Given the description of an element on the screen output the (x, y) to click on. 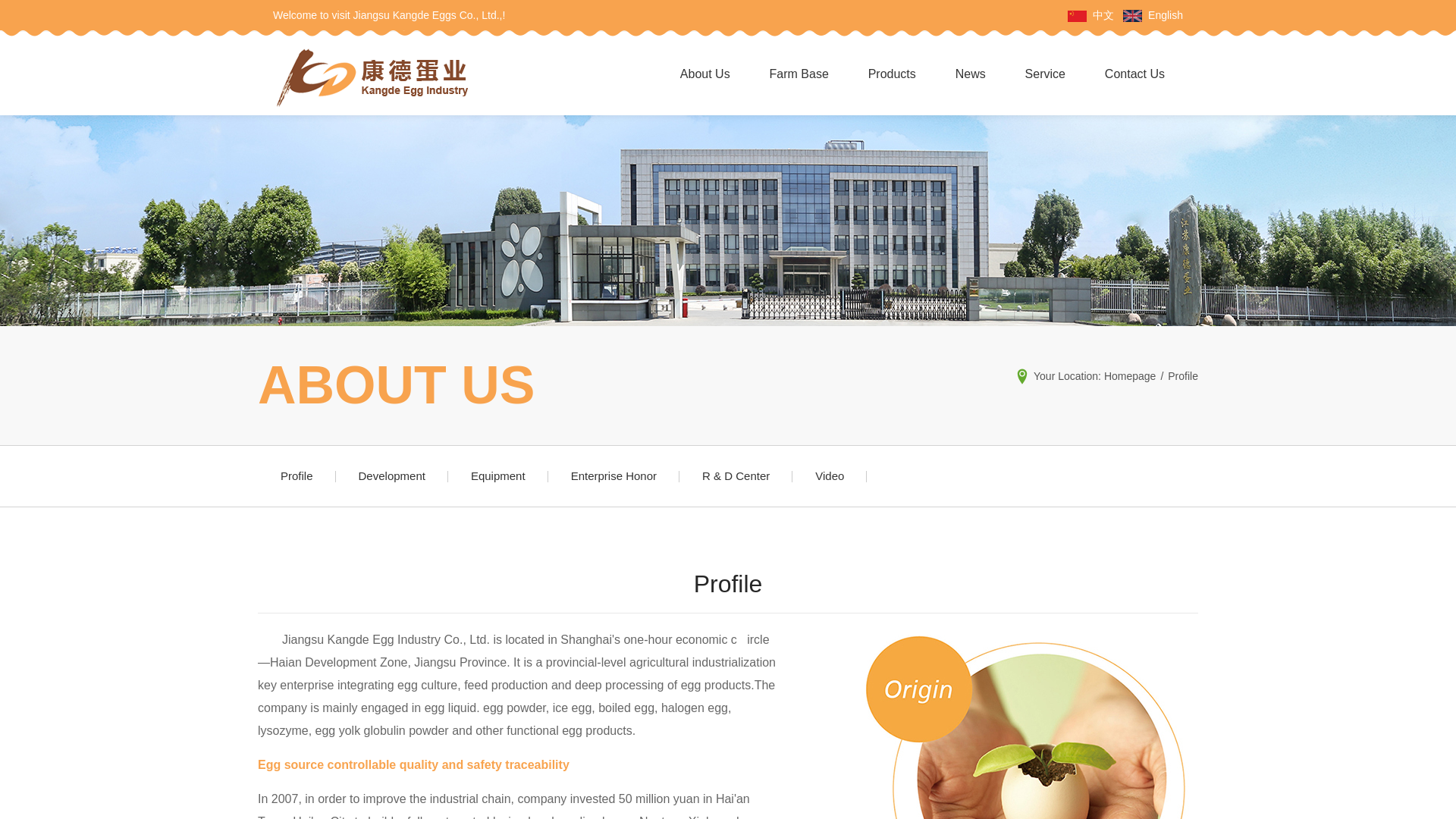
Profile (296, 475)
Homepage (1129, 376)
Video (829, 475)
Equipment (498, 475)
English (1165, 15)
Development (392, 475)
Enterprise honor (613, 475)
Profile (296, 475)
Equipment (498, 475)
Enterprise Honor (613, 475)
Video (829, 475)
Development (392, 475)
